Given the description of an element on the screen output the (x, y) to click on. 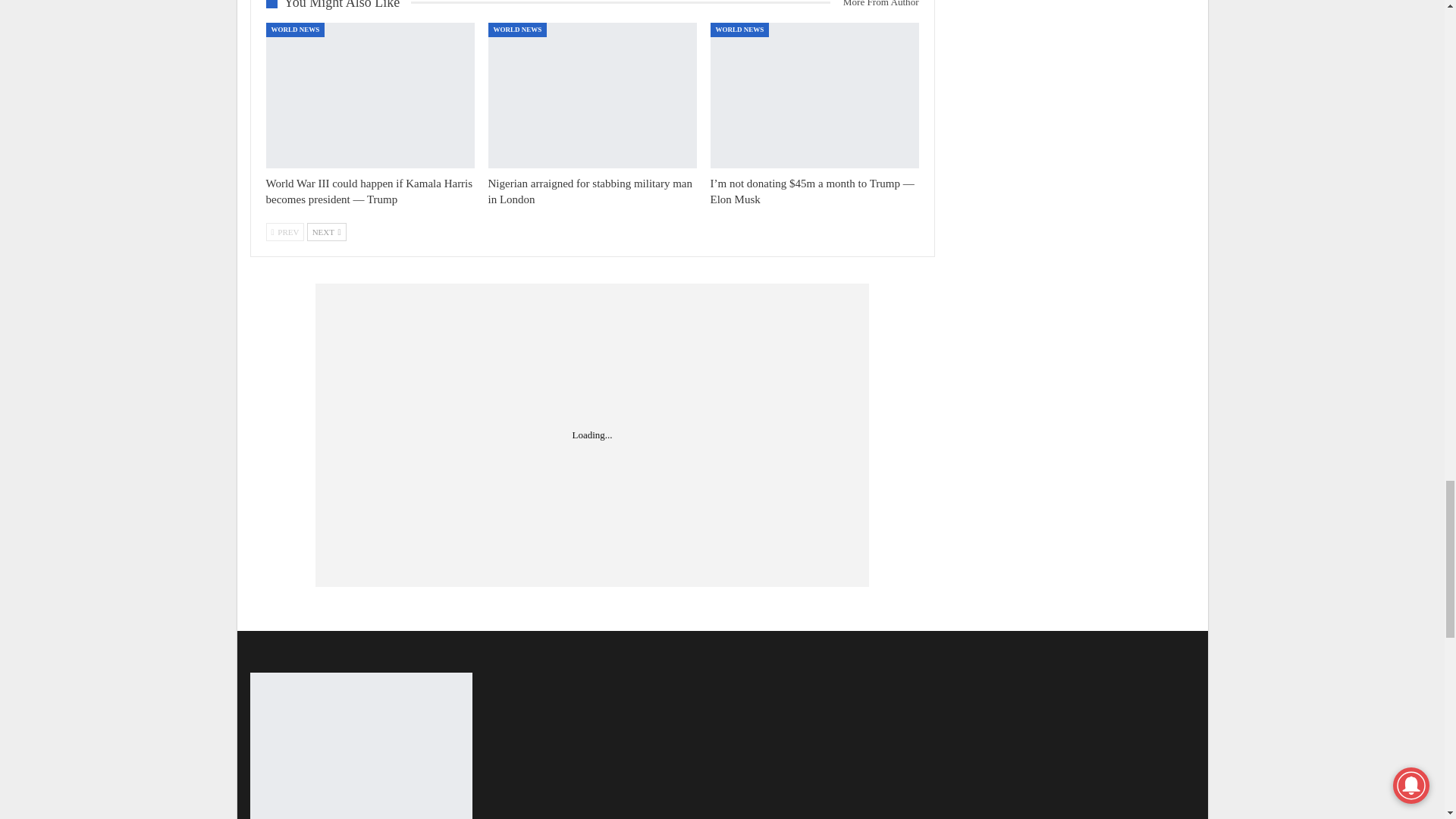
Nigerian arraigned for stabbing military man in London (590, 191)
Nigerian arraigned for stabbing military man in London (592, 95)
